Given the description of an element on the screen output the (x, y) to click on. 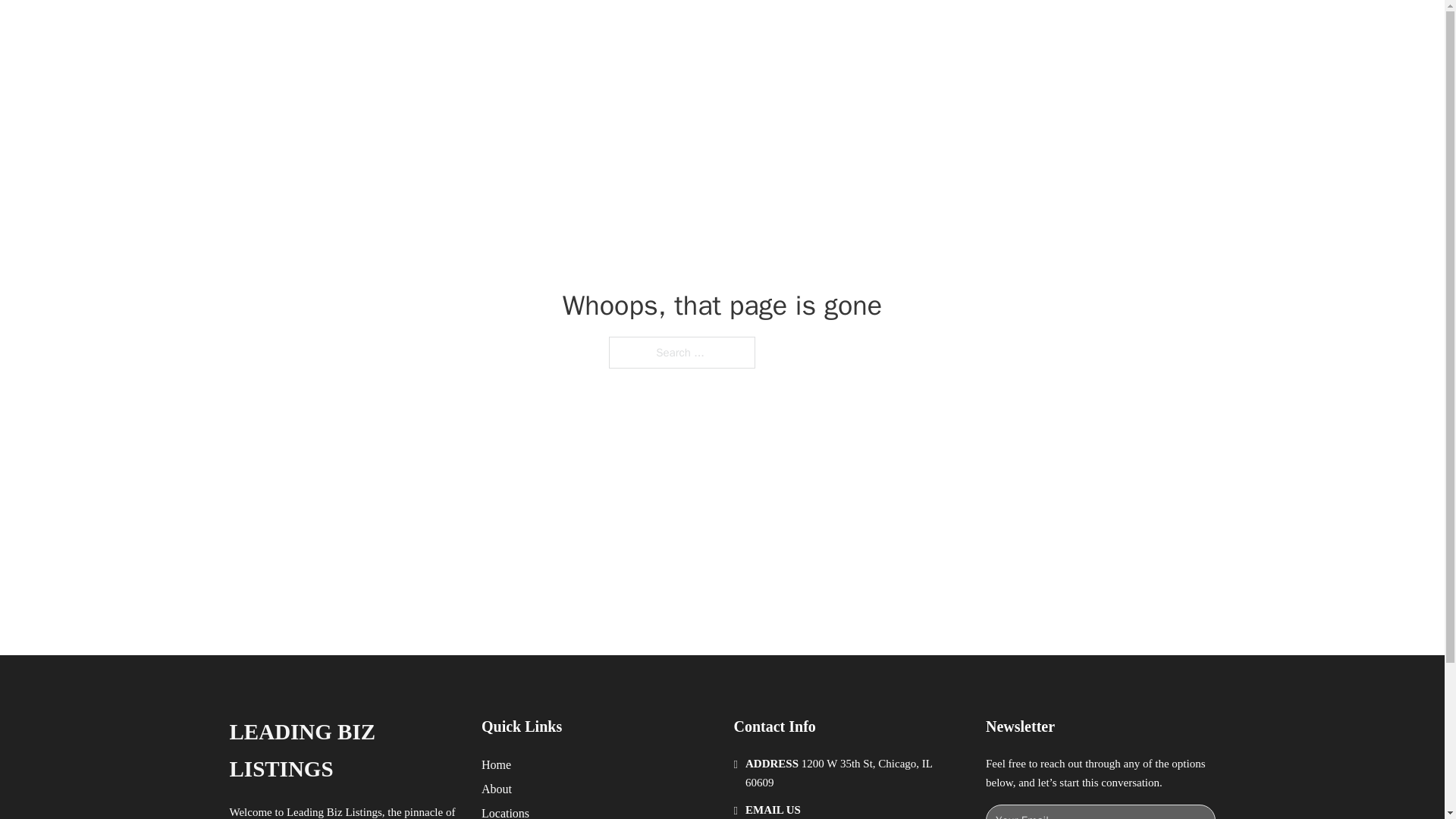
Home (496, 764)
Locations (505, 811)
About (496, 788)
LEADING BIZ LISTINGS (343, 750)
